Given the description of an element on the screen output the (x, y) to click on. 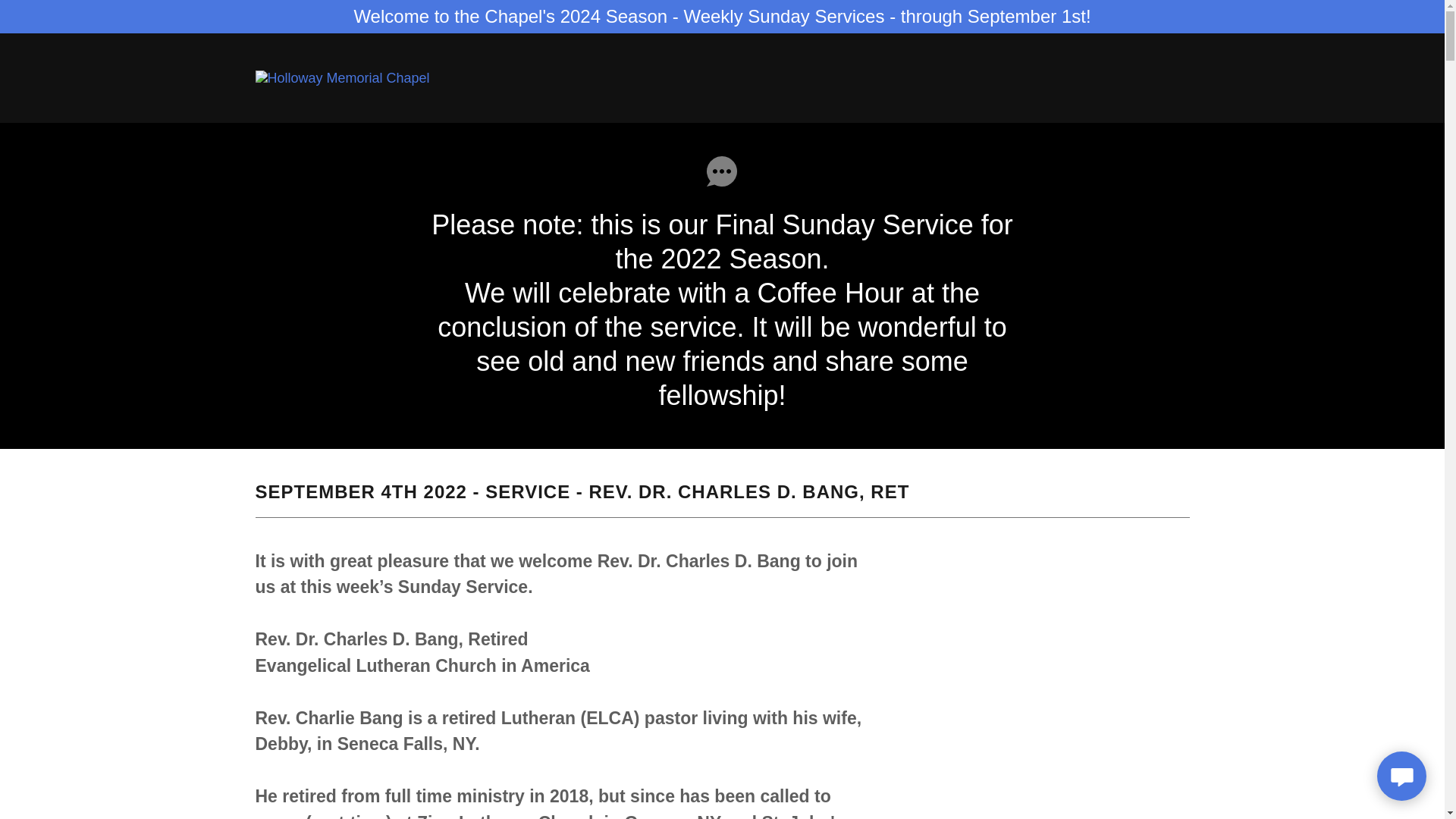
Holloway Memorial Chapel (341, 77)
